Given the description of an element on the screen output the (x, y) to click on. 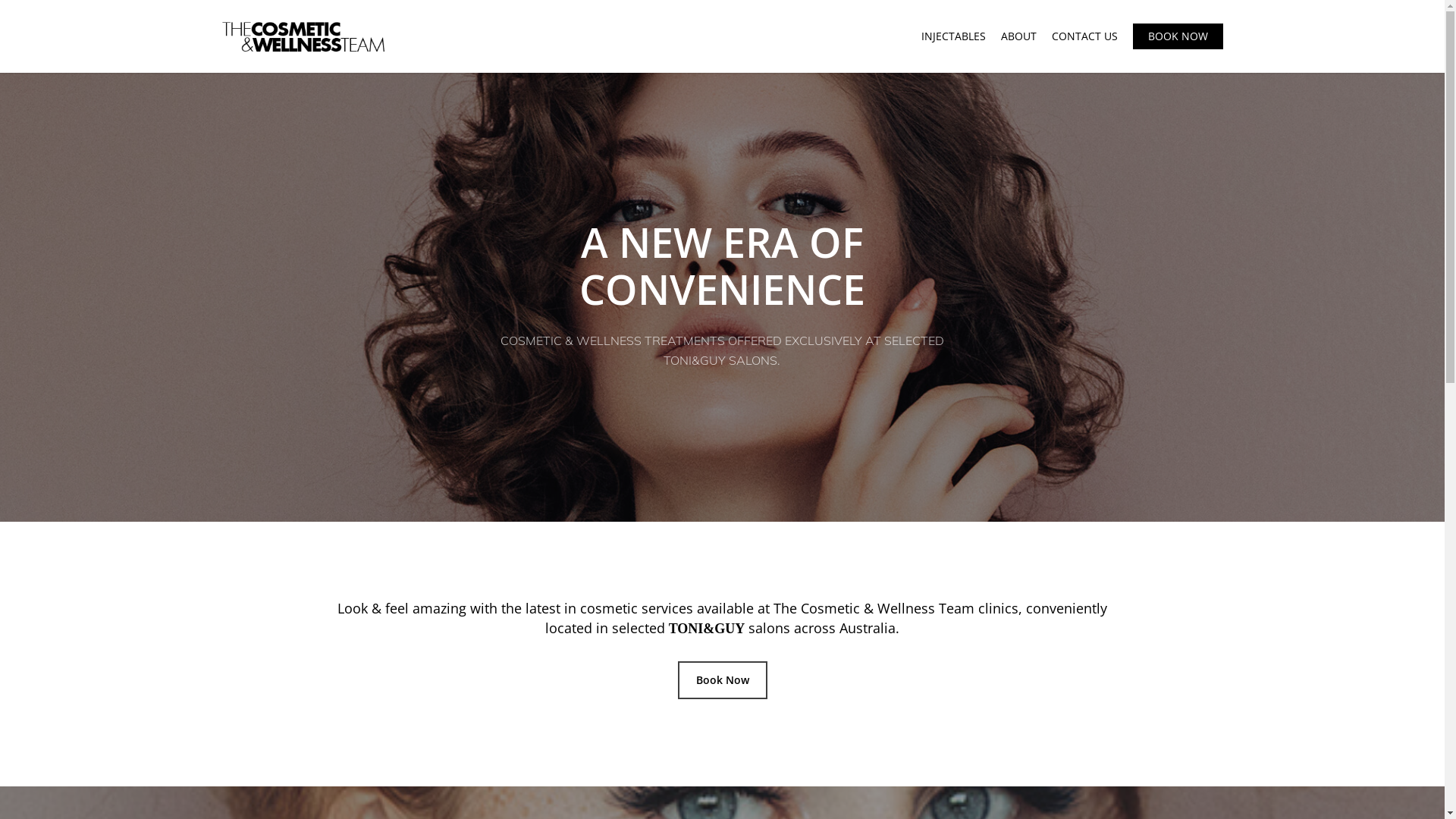
BOOK NOW Element type: text (1177, 35)
TONI&GUY Element type: text (706, 627)
INJECTABLES Element type: text (952, 35)
ABOUT Element type: text (1018, 35)
CONTACT US Element type: text (1084, 35)
Book Now Element type: text (722, 680)
